Given the description of an element on the screen output the (x, y) to click on. 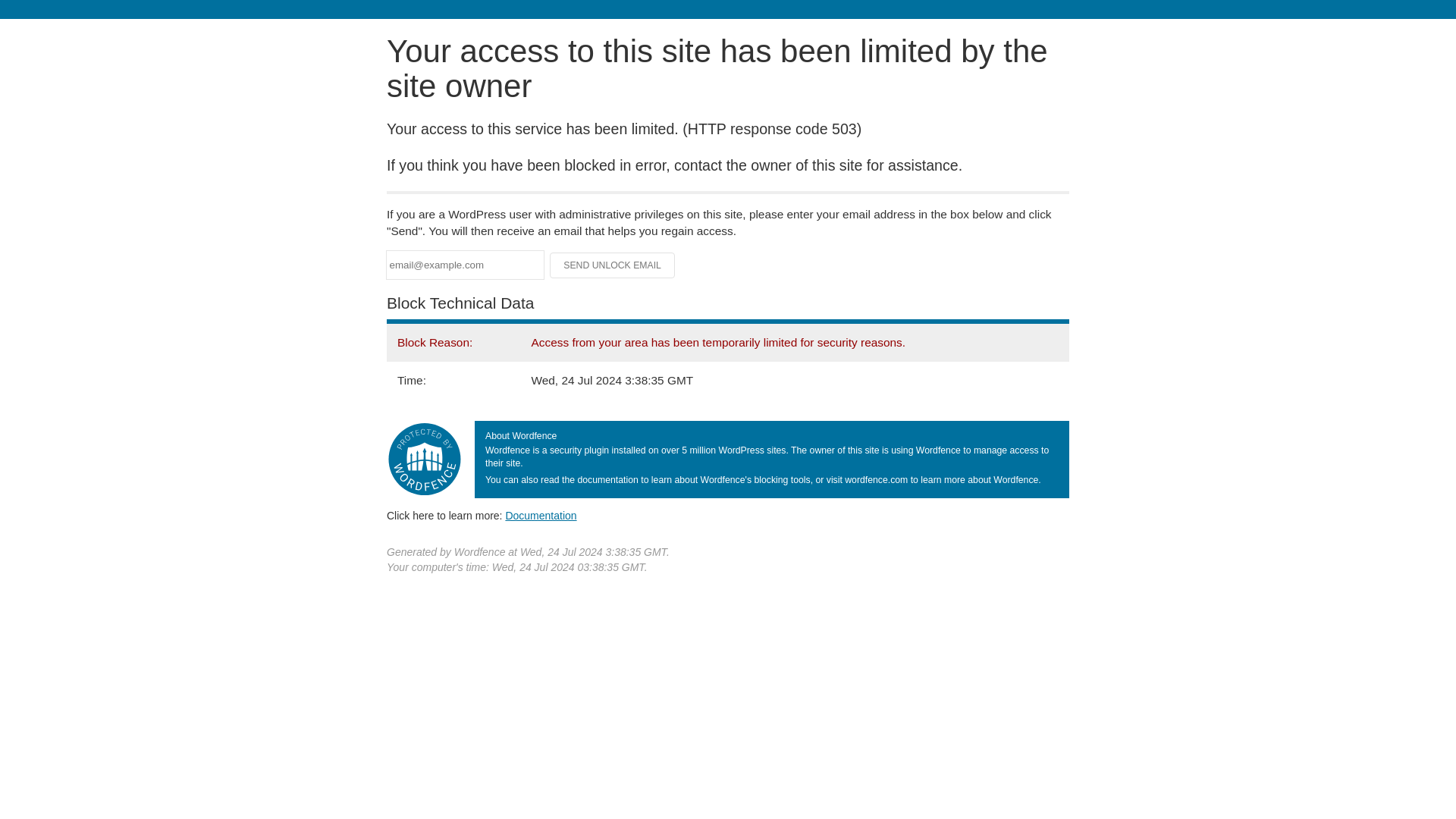
Send Unlock Email (612, 265)
Send Unlock Email (612, 265)
Documentation (540, 515)
